Given the description of an element on the screen output the (x, y) to click on. 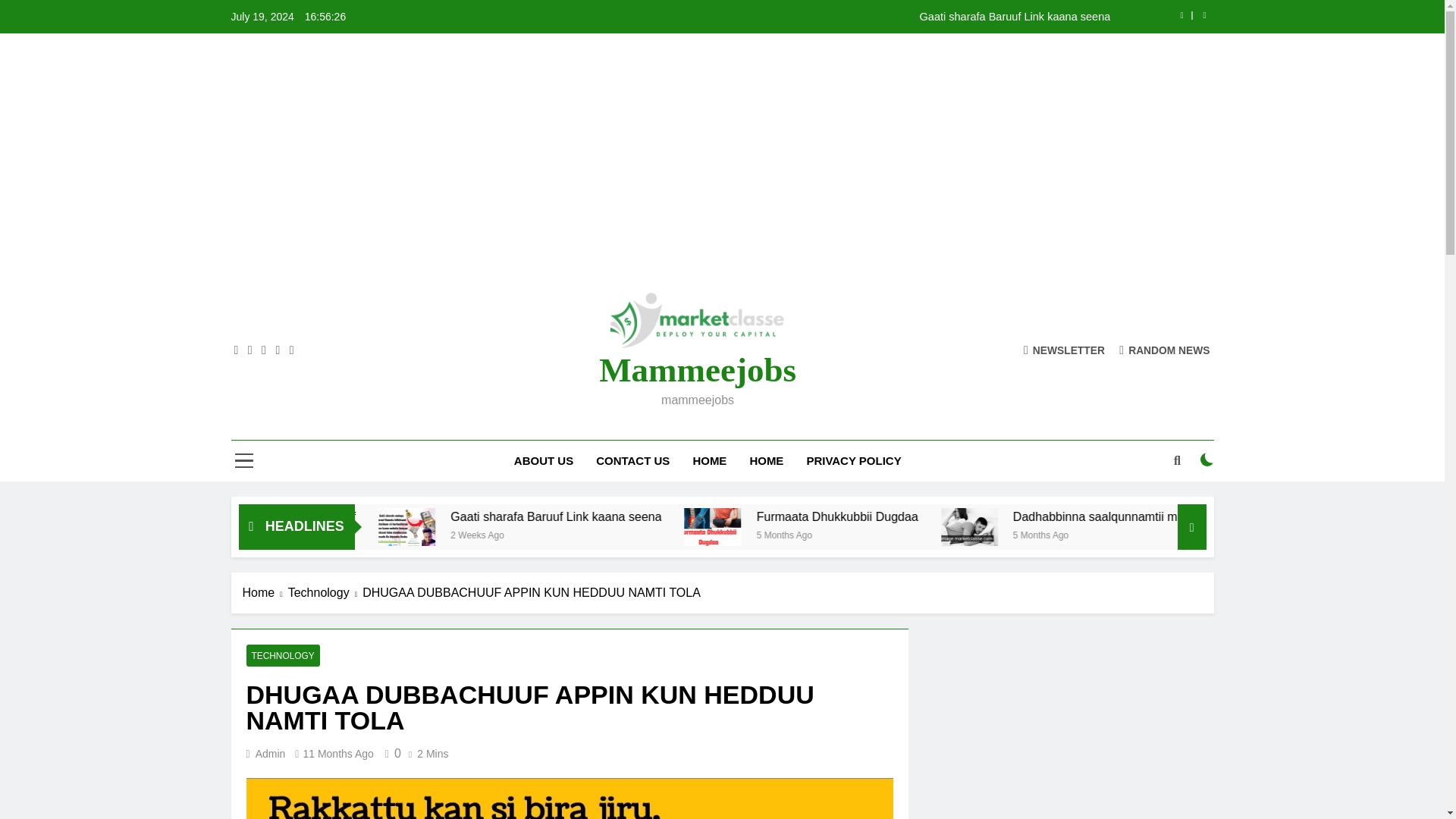
RANDOM NEWS (1164, 349)
CONTACT US (633, 460)
Furmaanni maali worri jedhaa turtaniif (430, 516)
Mammeejobs (697, 370)
Gaati sharafa Baruuf Link kaana seena (547, 526)
5 Months Ago (946, 533)
Gaati sharafa Baruuf Link kaana seena (547, 526)
HOME (709, 460)
Gaati sharafa Baruuf Link kaana seena (817, 16)
NEWSLETTER (1064, 349)
2 Weeks Ago (646, 533)
PRIVACY POLICY (853, 460)
on (1206, 459)
4 Months Ago (353, 533)
